Given the description of an element on the screen output the (x, y) to click on. 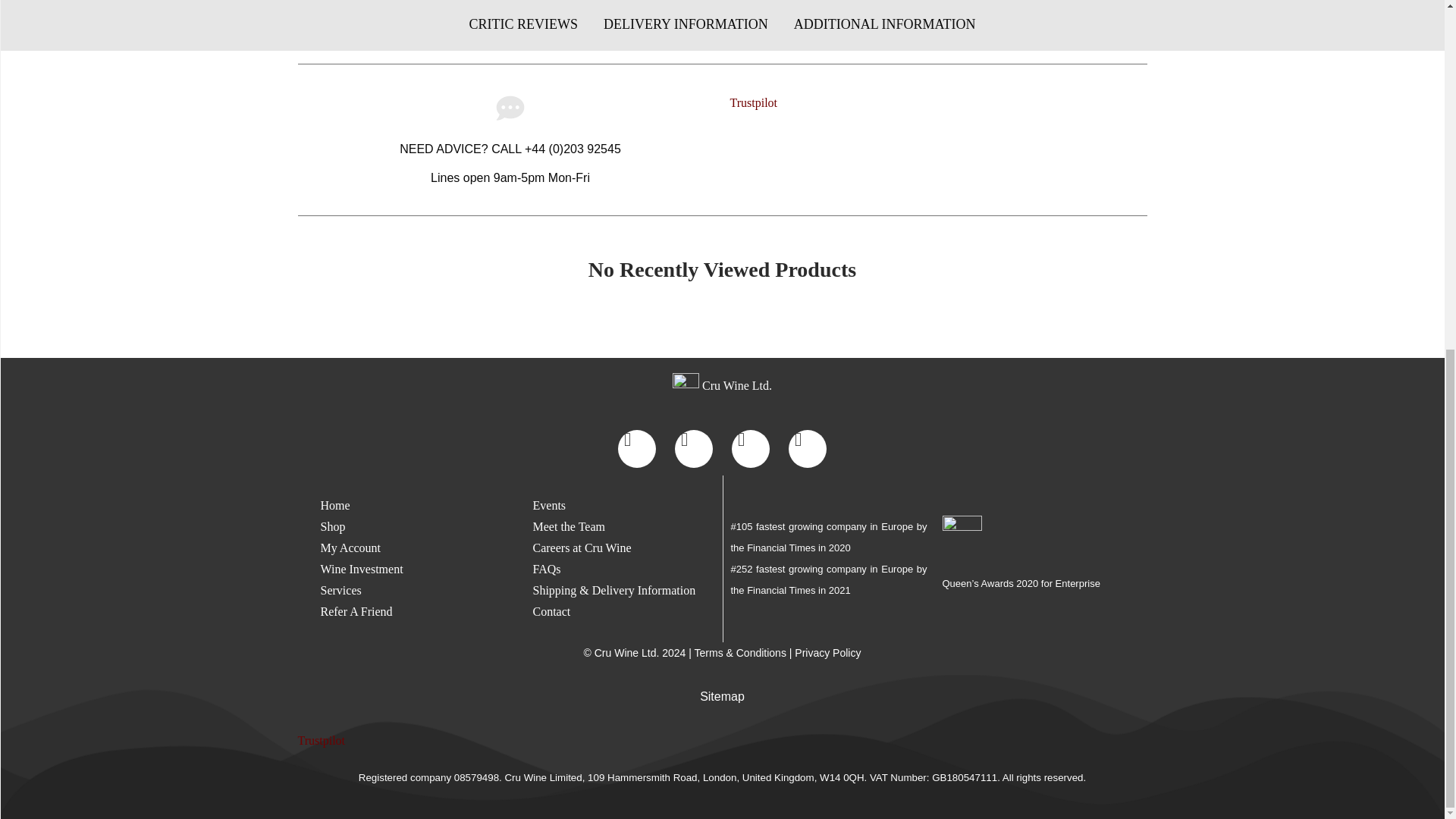
icon-message.png (510, 107)
